Given the description of an element on the screen output the (x, y) to click on. 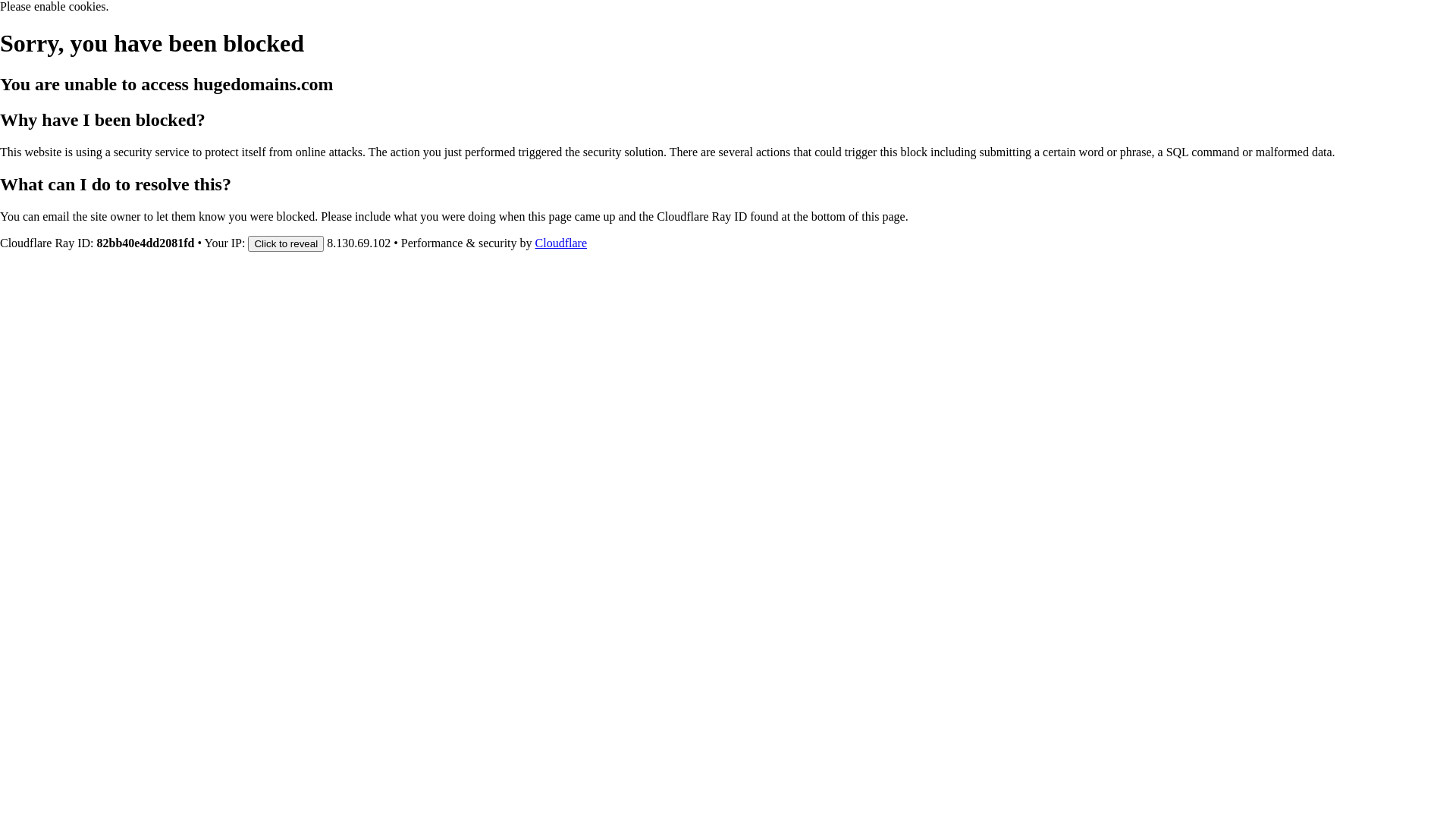
Click to reveal Element type: text (285, 243)
Cloudflare Element type: text (560, 242)
